Given the description of an element on the screen output the (x, y) to click on. 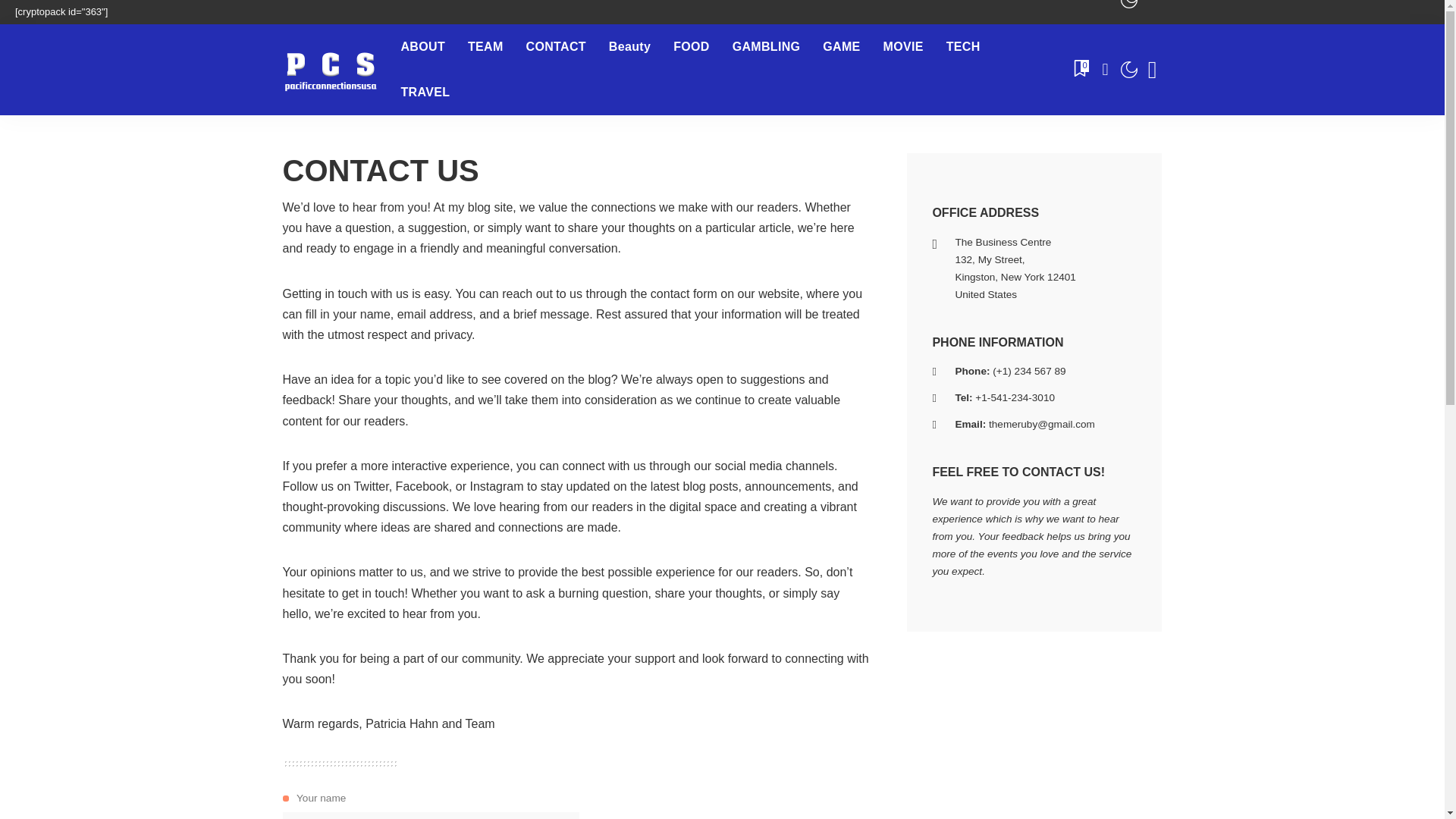
ABOUT (423, 46)
MOVIE (903, 46)
TRAVEL (425, 92)
PCS (329, 69)
CONTACT (555, 46)
GAMBLING (766, 46)
GAME (840, 46)
TEAM (486, 46)
Beauty (629, 46)
TECH (962, 46)
